Given the description of an element on the screen output the (x, y) to click on. 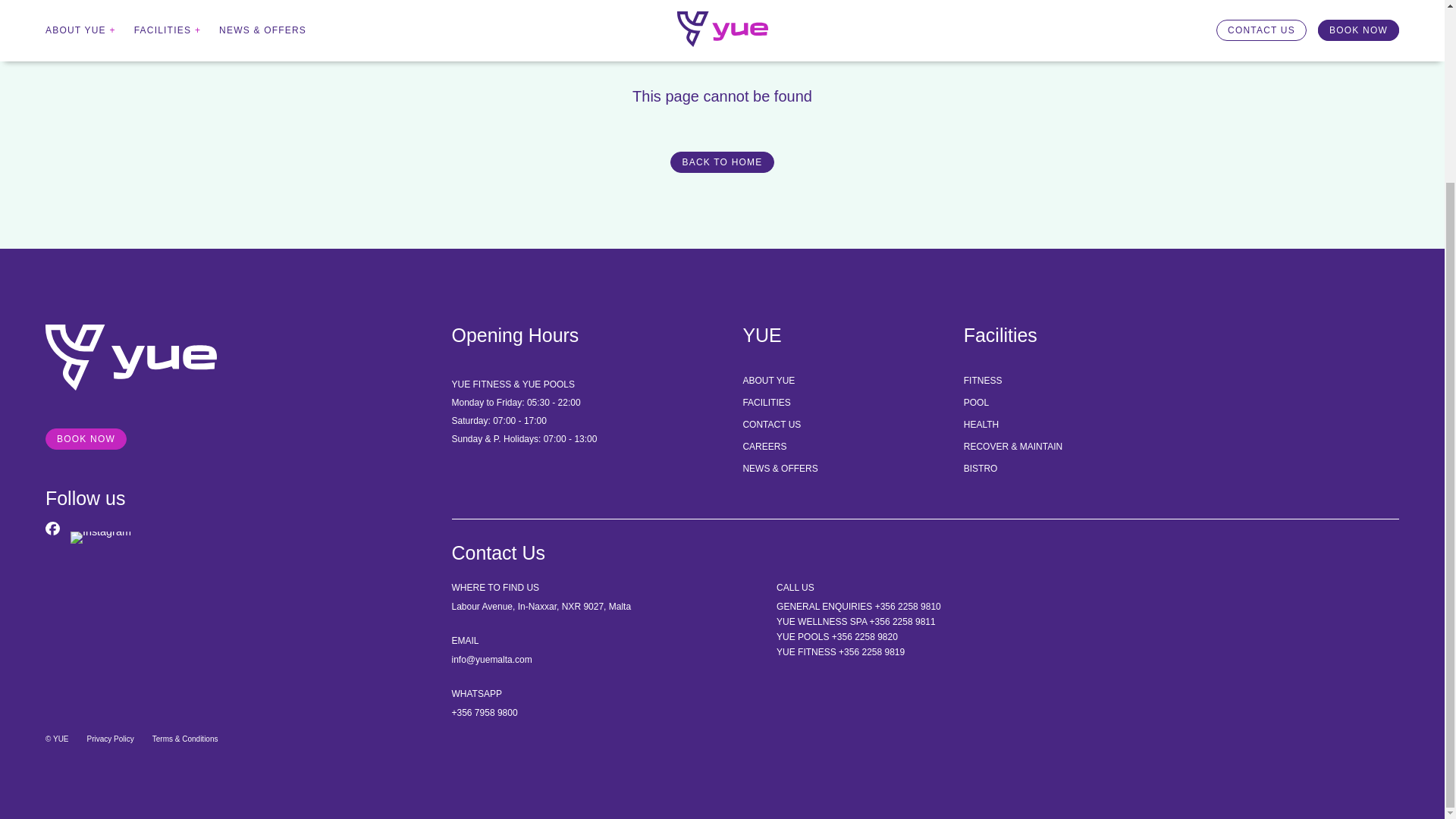
BOOK NOW (85, 438)
CAREERS (764, 446)
HEALTH (980, 424)
FACILITIES (766, 402)
Privacy Policy (110, 738)
ABOUT YUE (768, 380)
FITNESS (983, 380)
POOL (975, 402)
BACK TO HOME (721, 161)
BISTRO (980, 468)
